Given the description of an element on the screen output the (x, y) to click on. 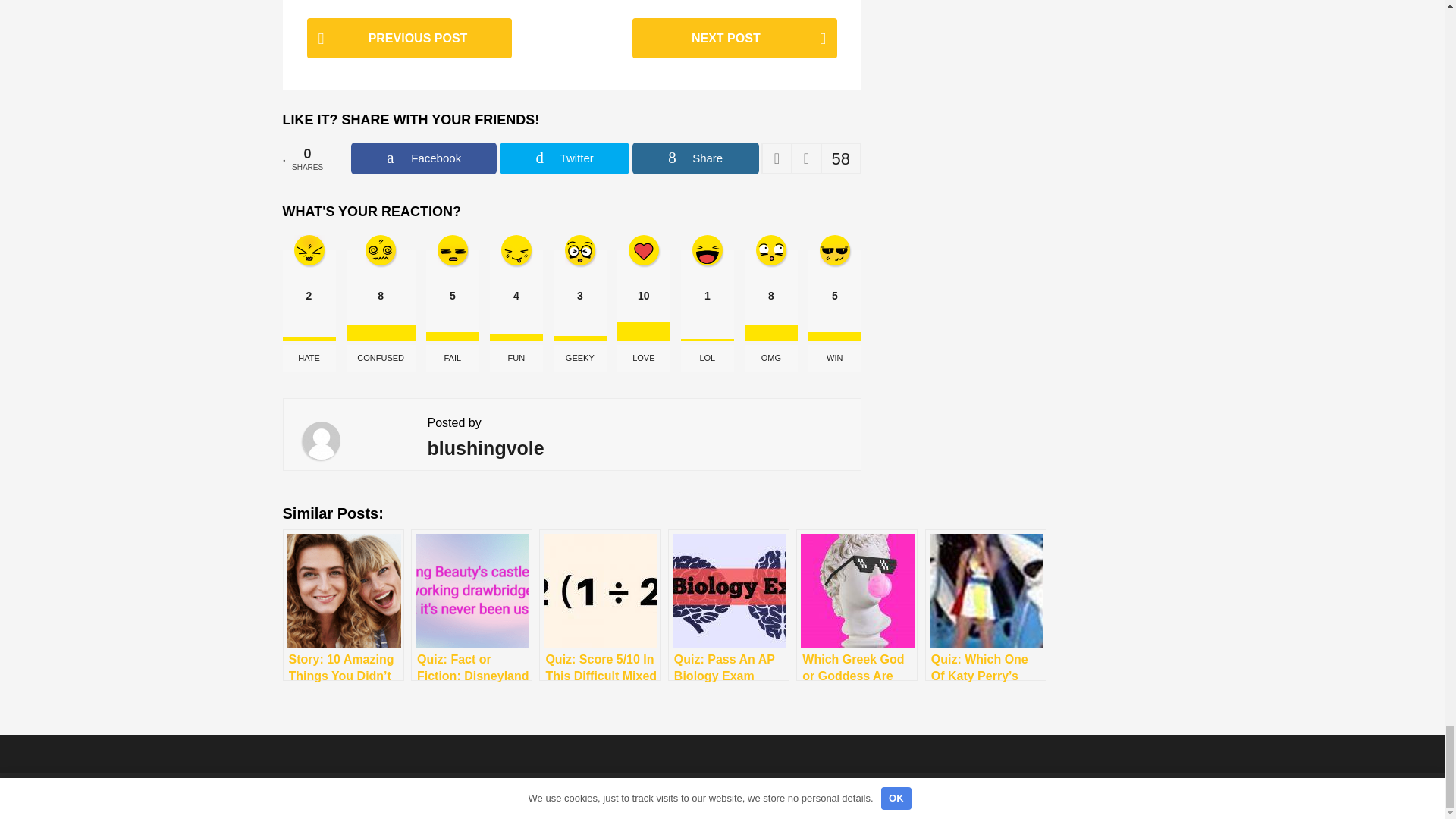
PREVIOUS POST (408, 38)
Facebook (423, 158)
NEXT POST (734, 38)
Share (694, 158)
Twitter (563, 158)
